Given the description of an element on the screen output the (x, y) to click on. 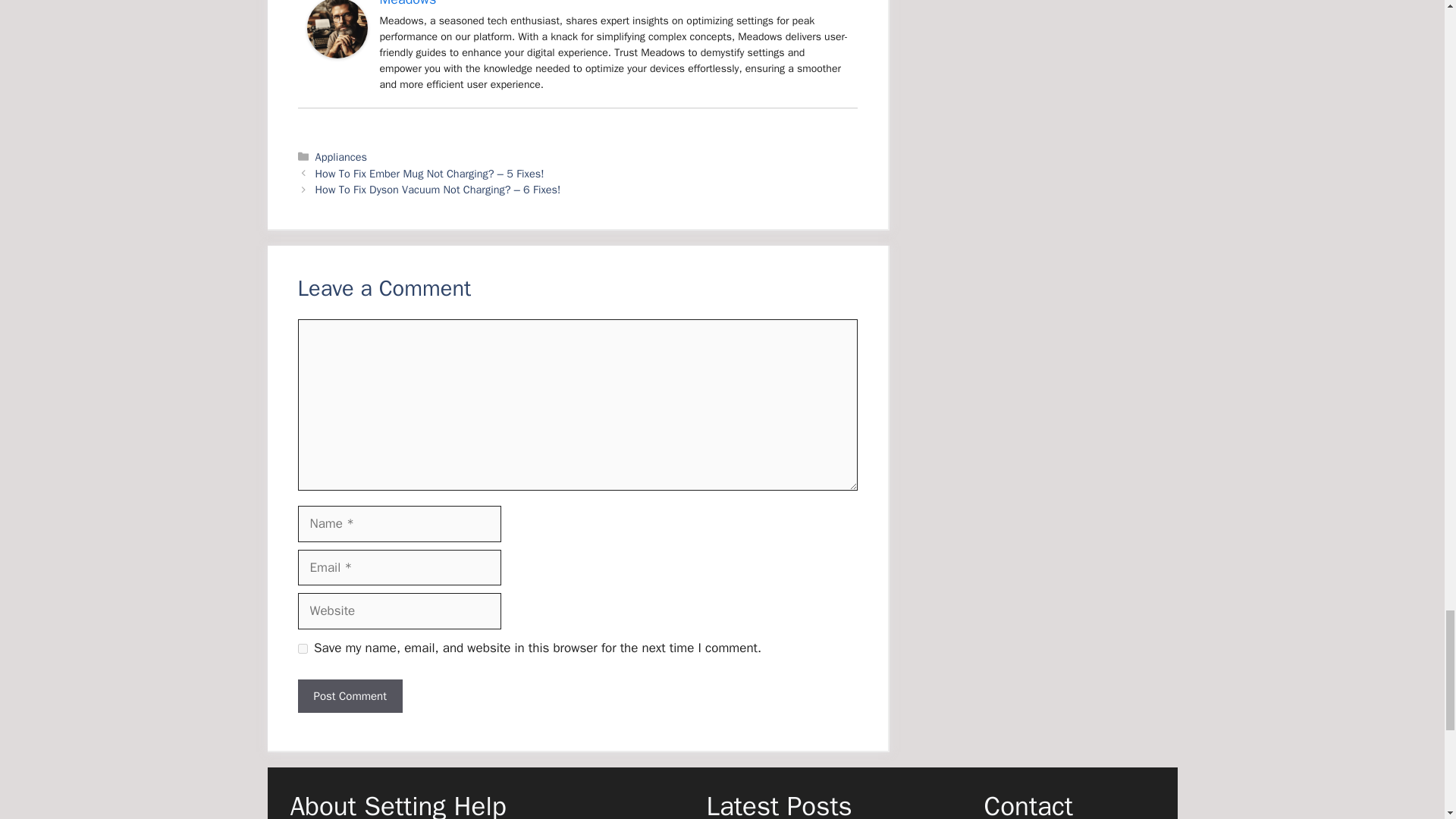
Post Comment (349, 696)
yes (302, 648)
